Given the description of an element on the screen output the (x, y) to click on. 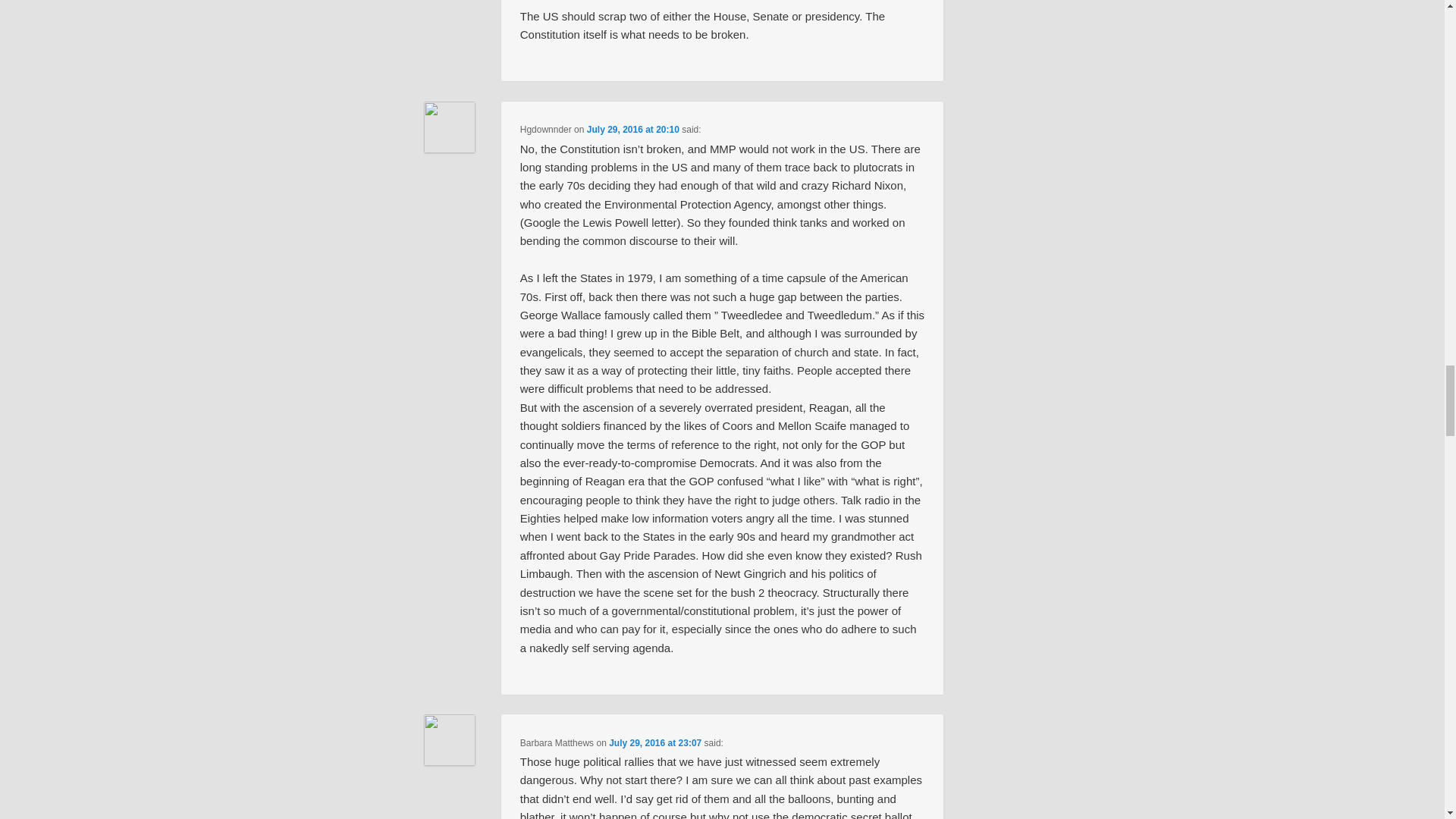
July 29, 2016 at 23:07 (654, 742)
July 29, 2016 at 20:10 (632, 129)
